Given the description of an element on the screen output the (x, y) to click on. 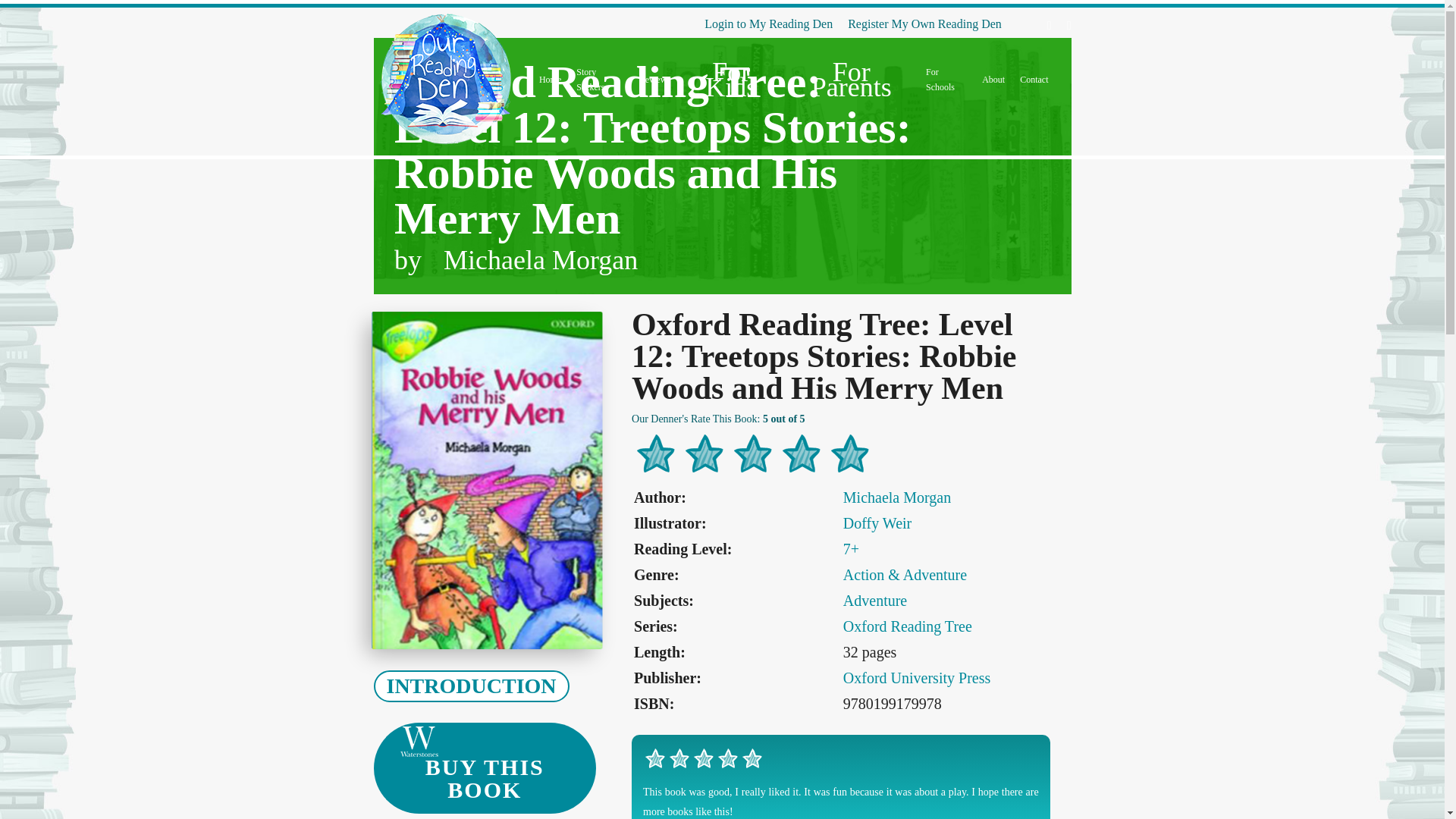
Story Seekers (599, 79)
For Schools (946, 79)
For Parents (851, 79)
Login to My Reading Den (768, 23)
For Kids (730, 79)
Reviews (654, 79)
Home (549, 79)
Register My Own Reading Den (924, 23)
